Given the description of an element on the screen output the (x, y) to click on. 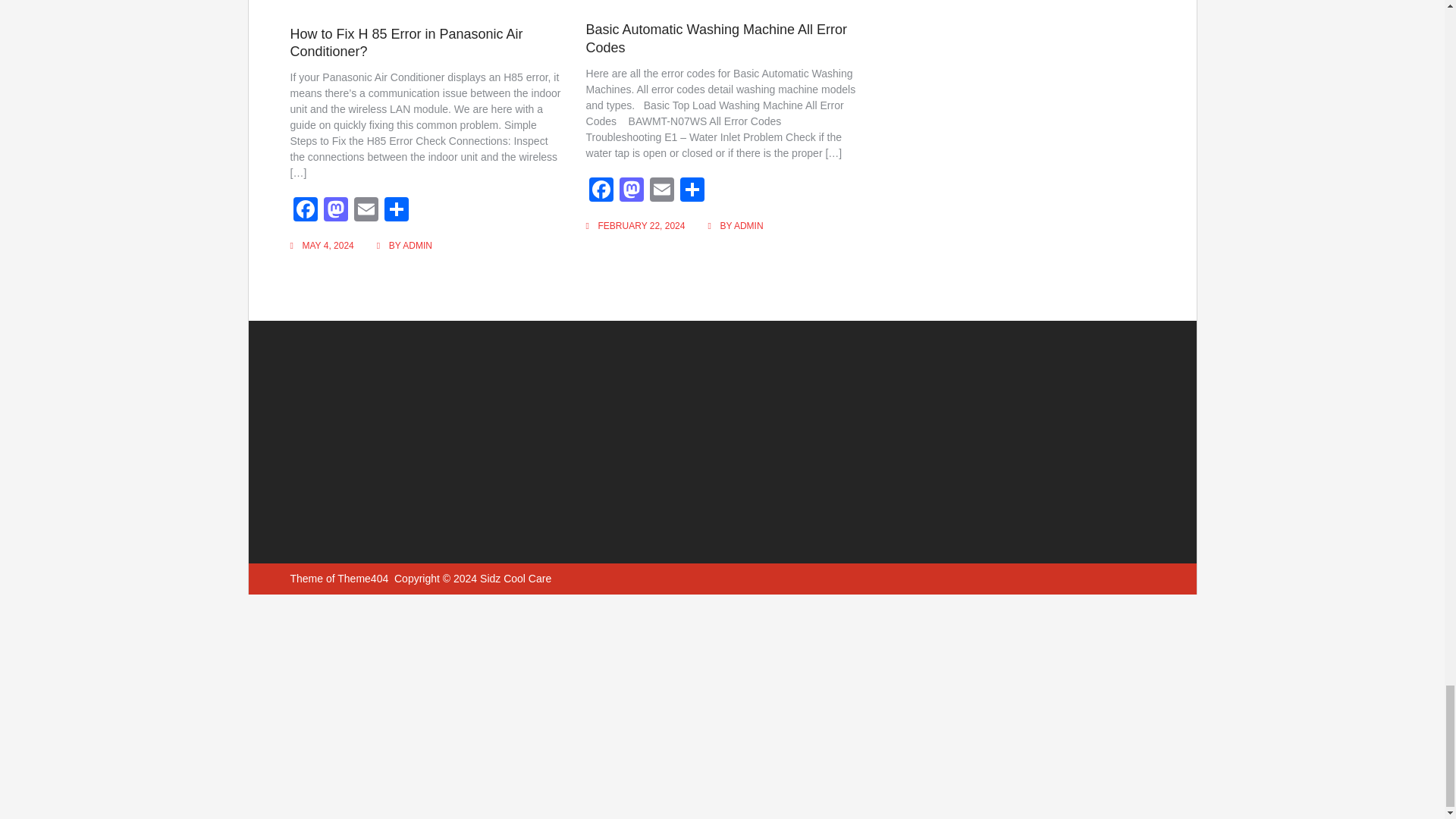
Mastodon (335, 211)
Facebook (304, 211)
How to Fix H 85 Error in Panasonic Air Conditioner? (405, 42)
Mastodon (335, 211)
Email (365, 211)
Facebook (304, 211)
